Given the description of an element on the screen output the (x, y) to click on. 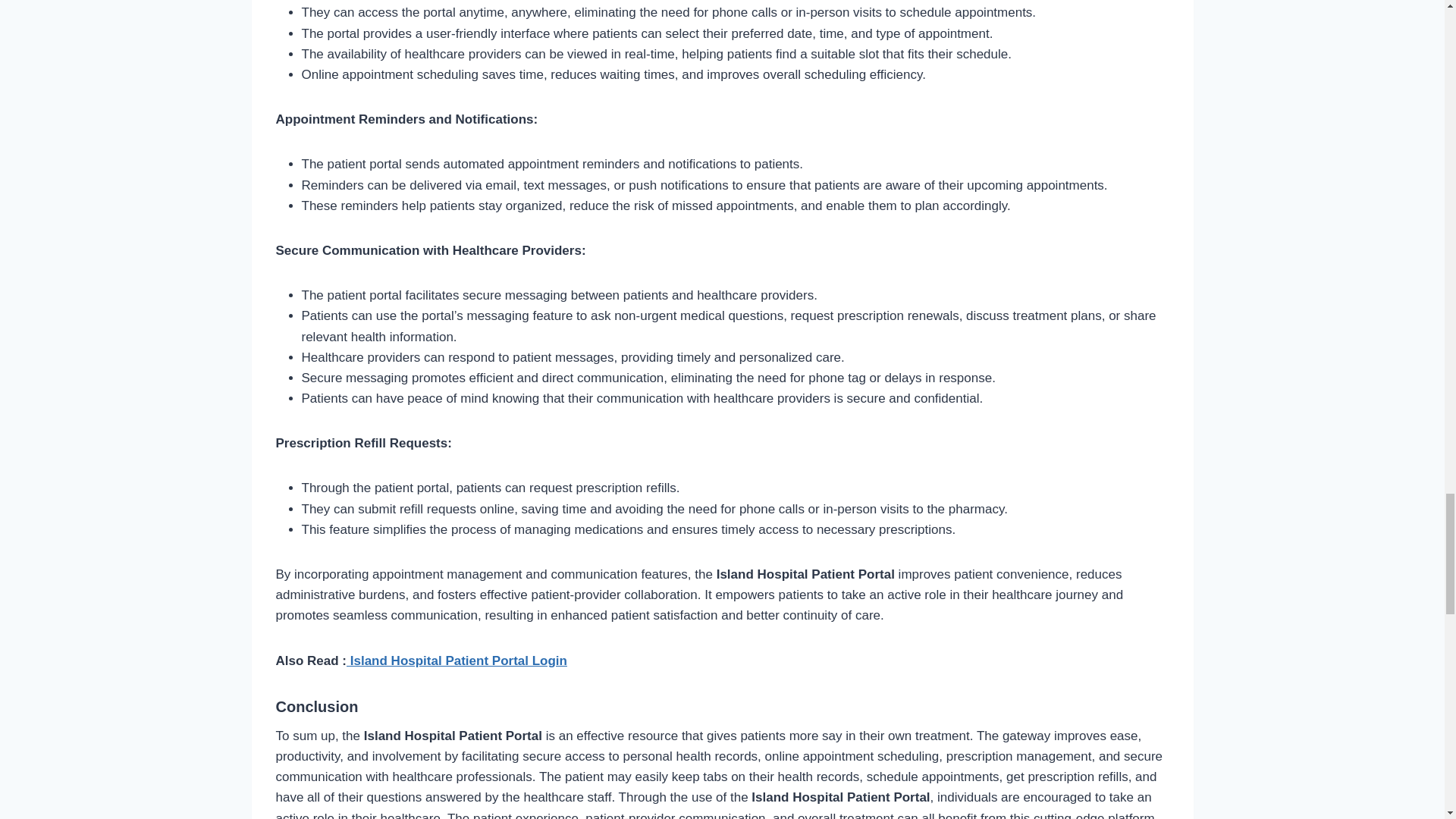
Island Hospital Patient Portal Login (456, 660)
